Given the description of an element on the screen output the (x, y) to click on. 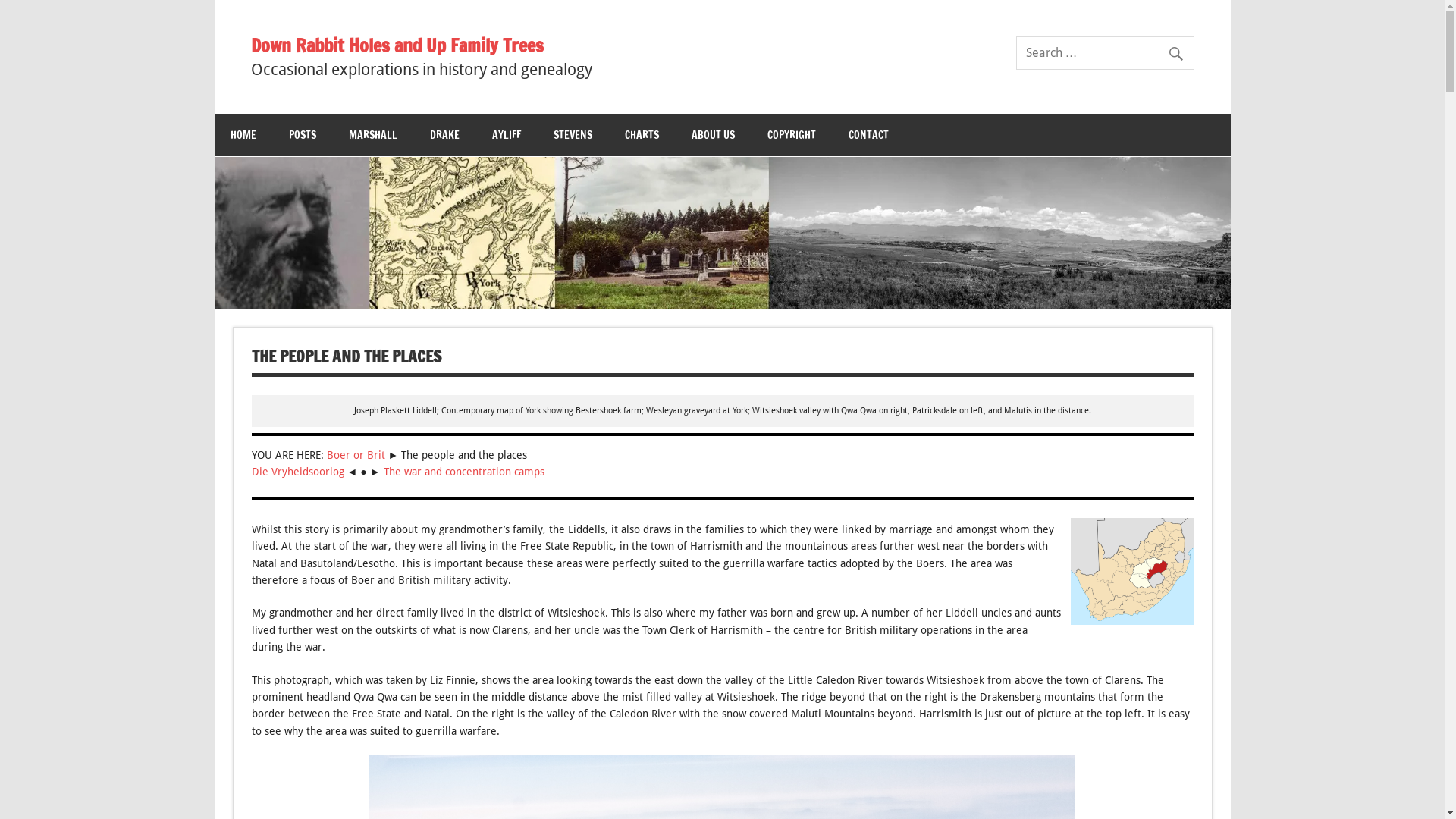
CHARTS Element type: text (641, 134)
The war and concentration camps Element type: text (462, 471)
HOME Element type: text (242, 134)
Boer or Brit Element type: text (355, 454)
Die Vryheidsoorlog Element type: text (299, 471)
POSTS Element type: text (302, 134)
Down Rabbit Holes and Up Family Trees Element type: text (420, 45)
MARSHALL Element type: text (372, 134)
AYLIFF Element type: text (506, 134)
STEVENS Element type: text (571, 134)
CONTACT Element type: text (868, 134)
DRAKE Element type: text (444, 134)
COPYRIGHT Element type: text (790, 134)
ABOUT US Element type: text (711, 134)
